Given the description of an element on the screen output the (x, y) to click on. 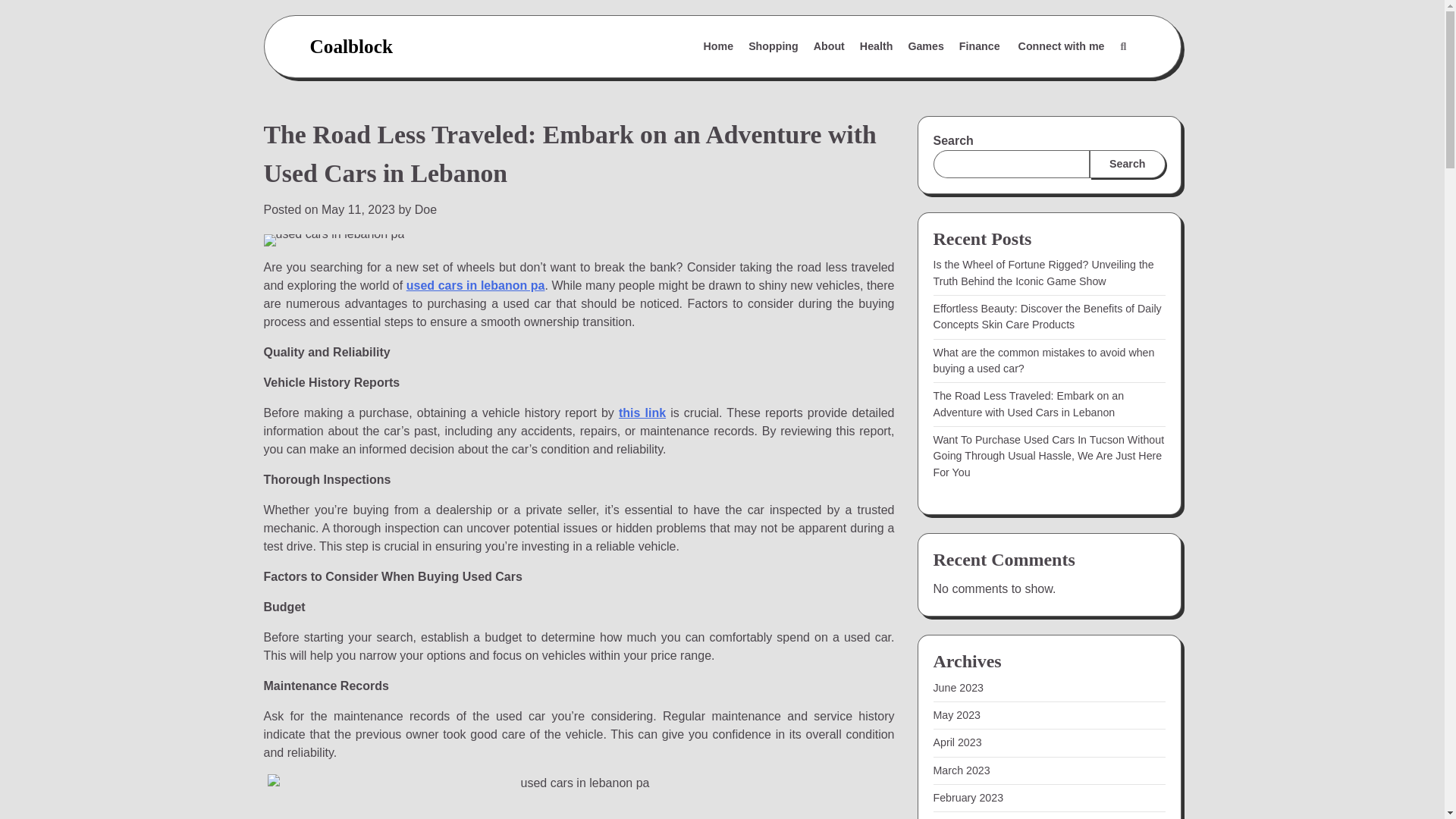
Finance  (981, 46)
Coalblock (350, 46)
Games (924, 46)
June 2023 (958, 687)
May 11, 2023 (357, 209)
Connect with me (1061, 46)
Health (876, 46)
Search (1126, 163)
used cars in lebanon pa (475, 285)
February 2023 (968, 797)
Home (718, 46)
May 2023 (956, 715)
Shopping (773, 46)
